Given the description of an element on the screen output the (x, y) to click on. 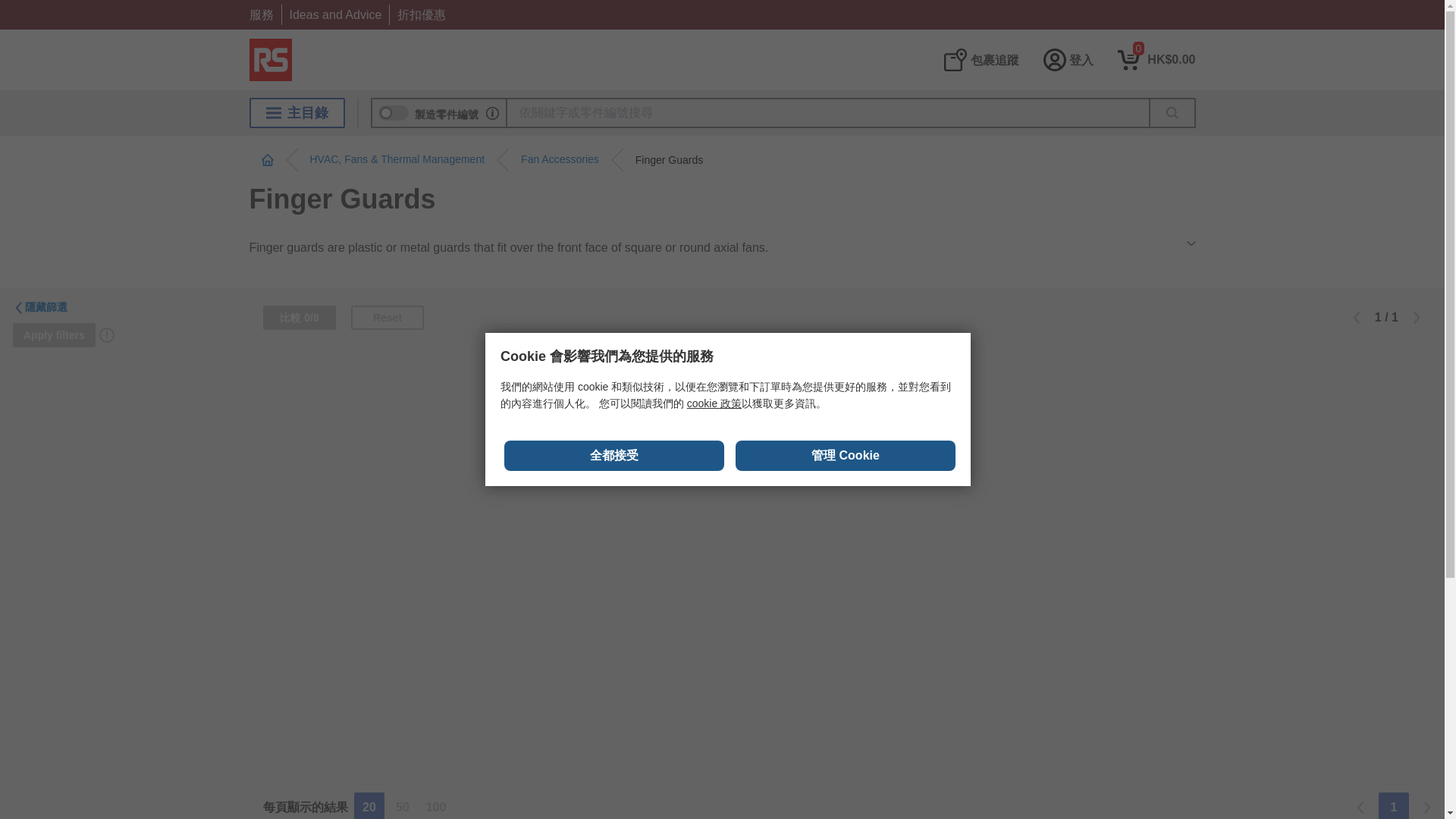
0 (1156, 59)
Ideas and Advice (335, 14)
